Given the description of an element on the screen output the (x, y) to click on. 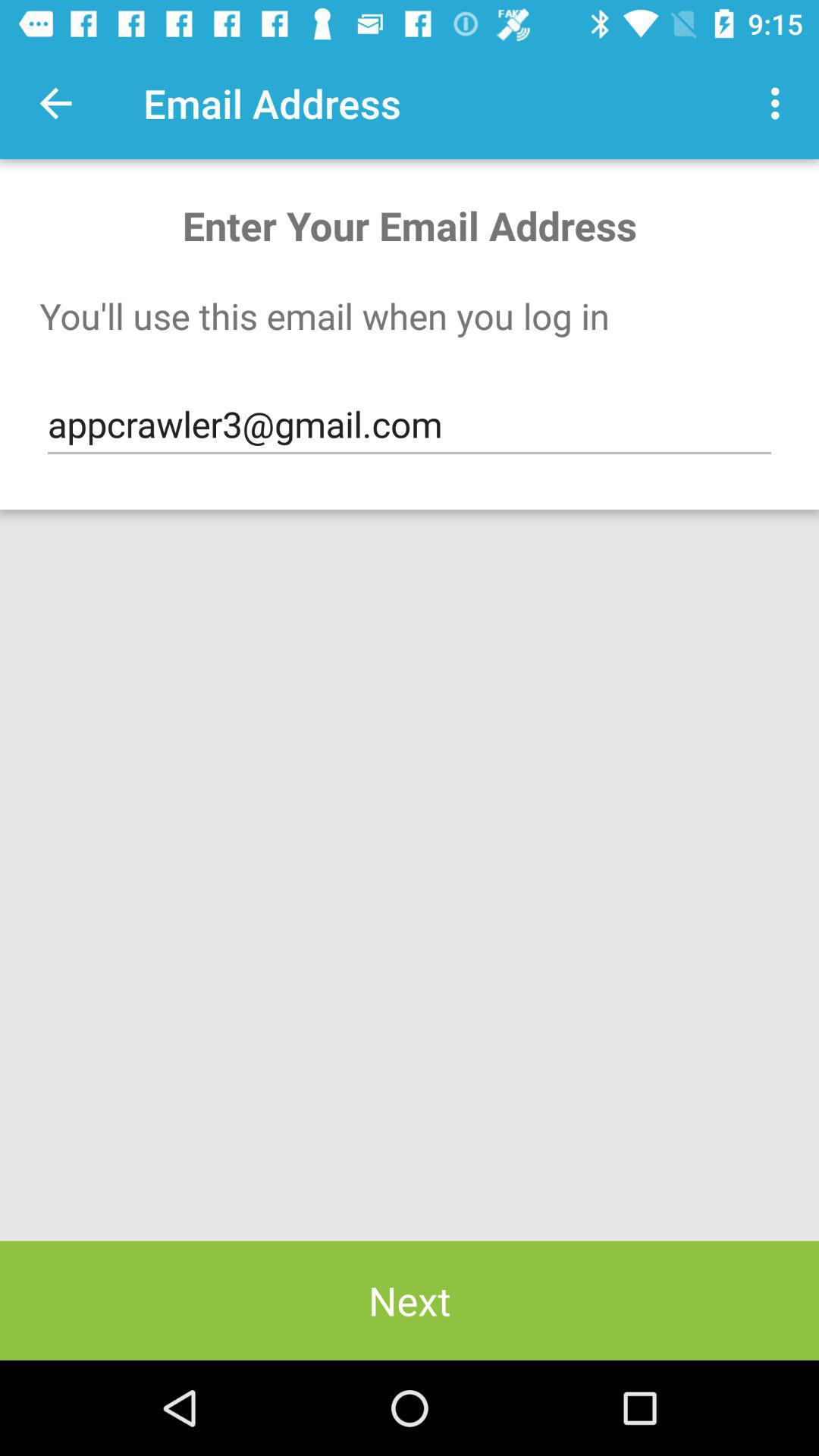
click the item at the top right corner (779, 103)
